Given the description of an element on the screen output the (x, y) to click on. 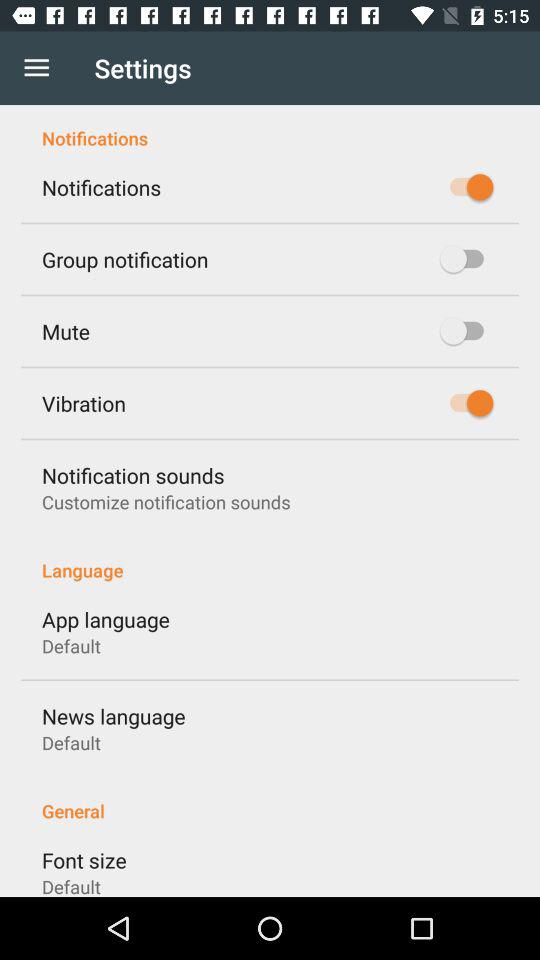
scroll until the news language item (113, 715)
